Given the description of an element on the screen output the (x, y) to click on. 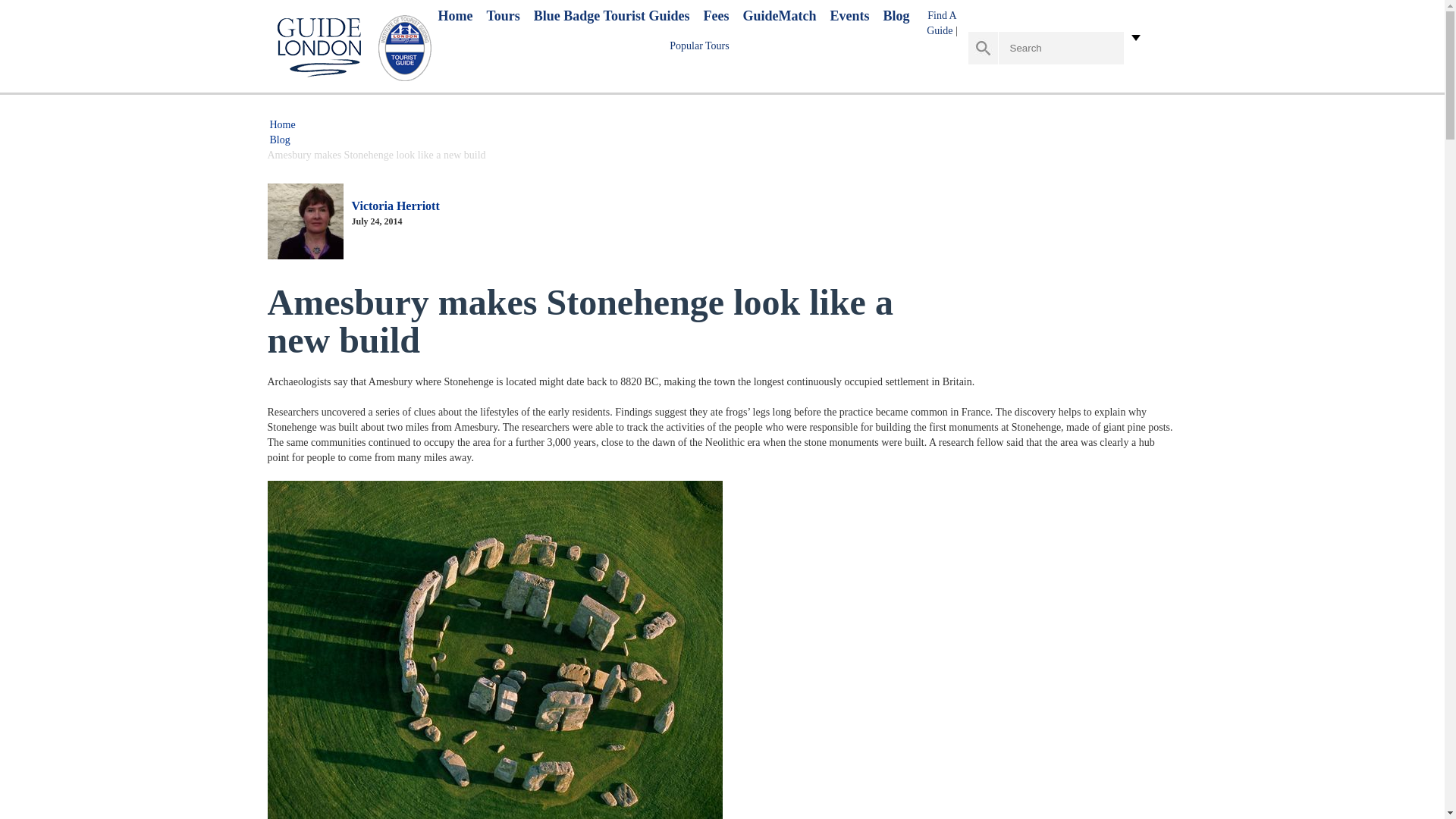
Home (282, 124)
Blue Badge Tourist Guides (612, 16)
Blog (279, 139)
Events (849, 16)
GuideMatch (778, 16)
Victoria Herriott (395, 206)
Home (455, 16)
Popular Tours (699, 45)
Fees (716, 16)
Find A Guide (941, 22)
Tours (502, 16)
Blog (895, 16)
